Given the description of an element on the screen output the (x, y) to click on. 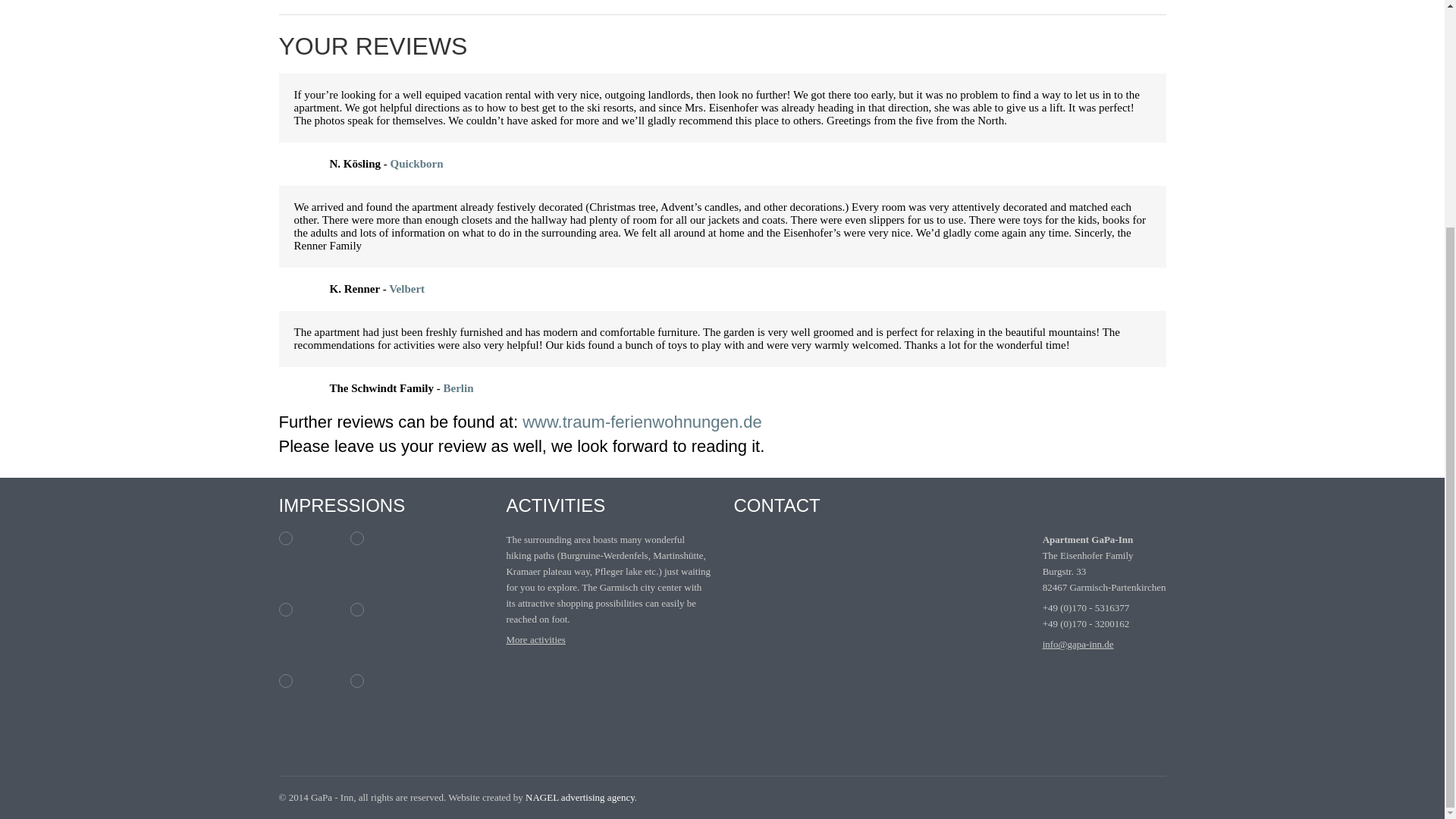
Quickborn (417, 163)
www.traum-ferienwohnungen.de (641, 421)
Berlin (459, 387)
NAGEL advertising agency (579, 797)
Velbert (406, 288)
More activities (534, 639)
Top of page (1152, 797)
